Given the description of an element on the screen output the (x, y) to click on. 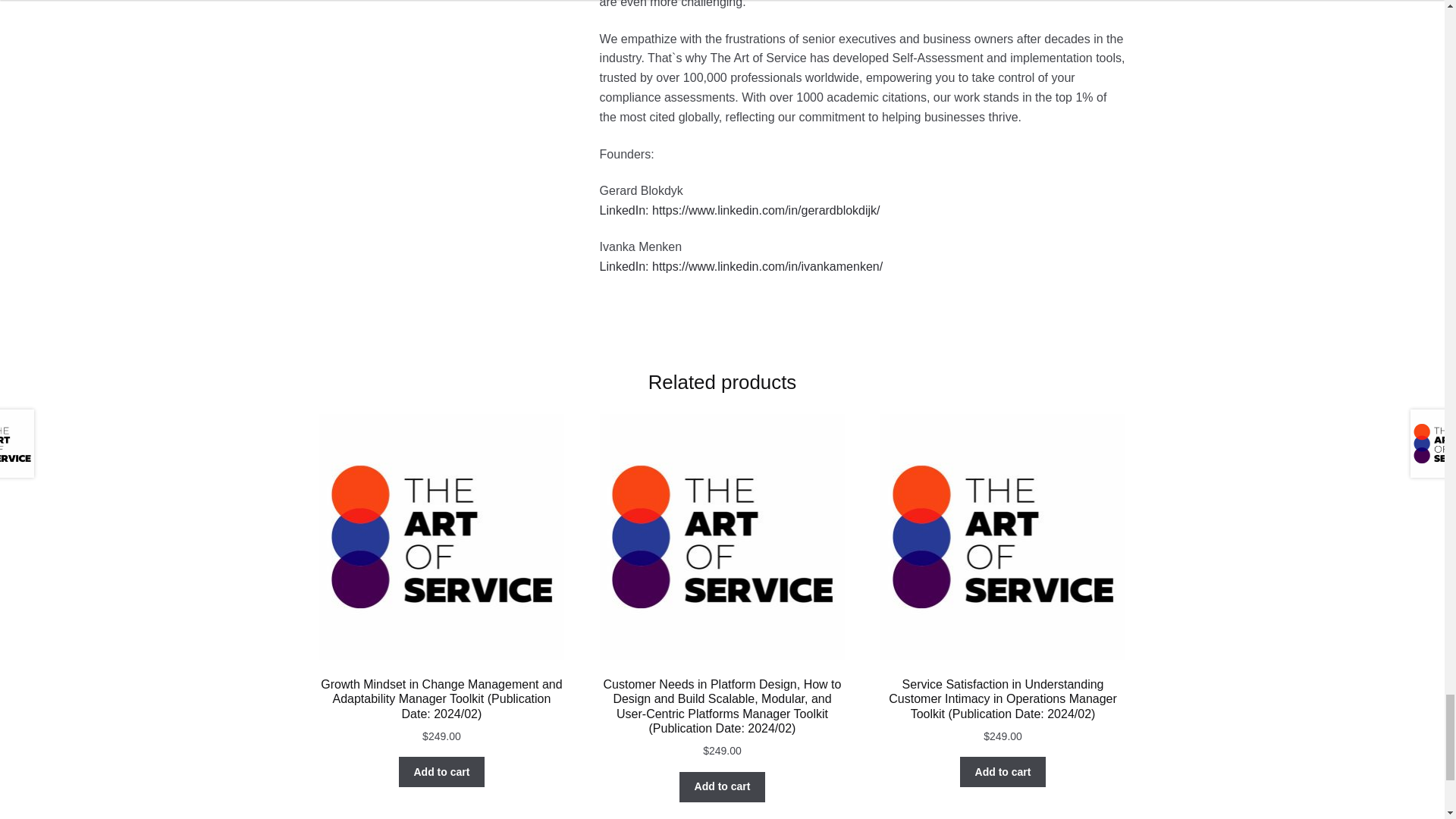
Add to cart (722, 787)
Add to cart (1002, 771)
Add to cart (441, 771)
